Given the description of an element on the screen output the (x, y) to click on. 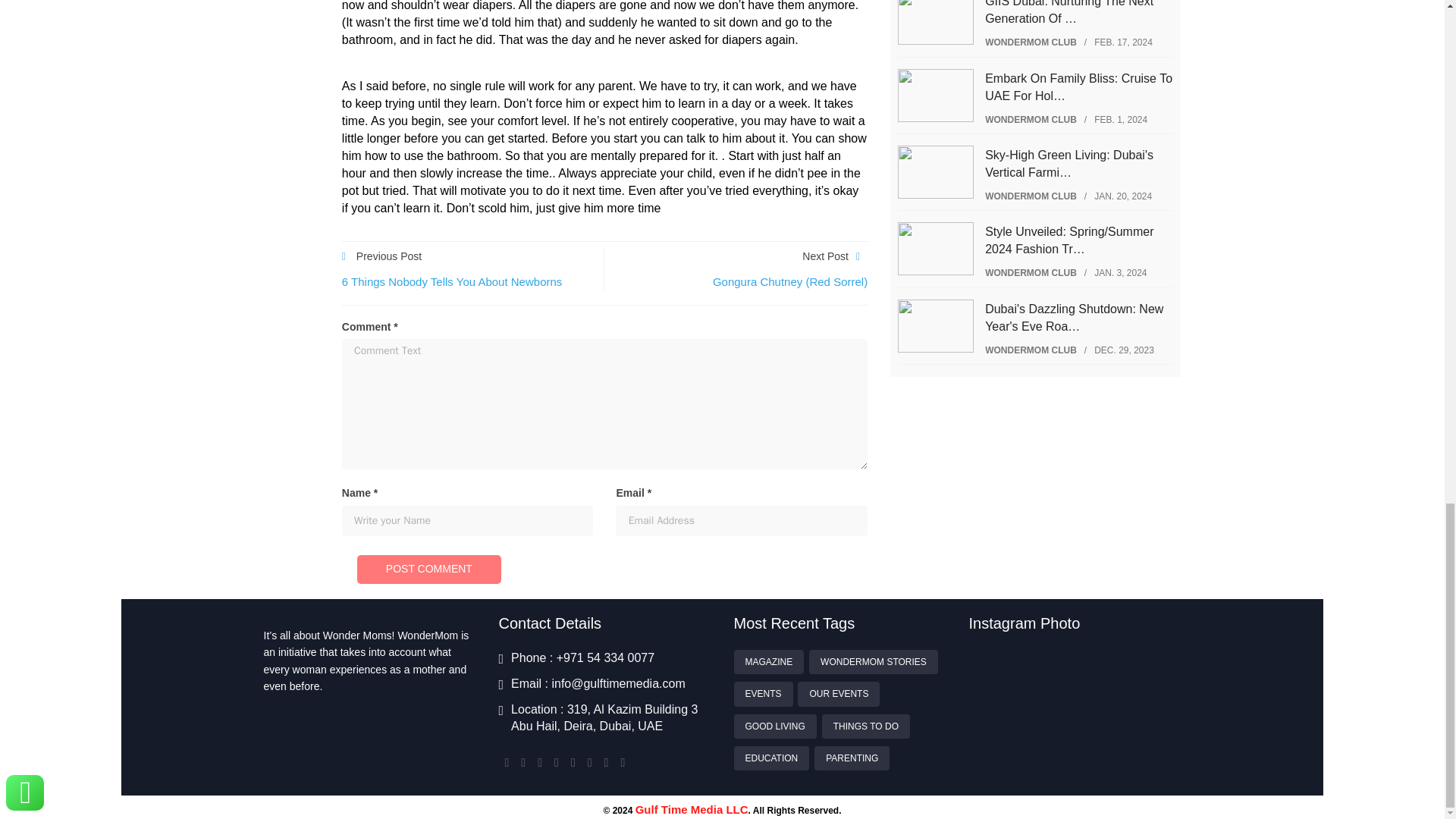
6 Things Nobody Tells You About Newborns (452, 281)
Post Comment (428, 569)
